Given the description of an element on the screen output the (x, y) to click on. 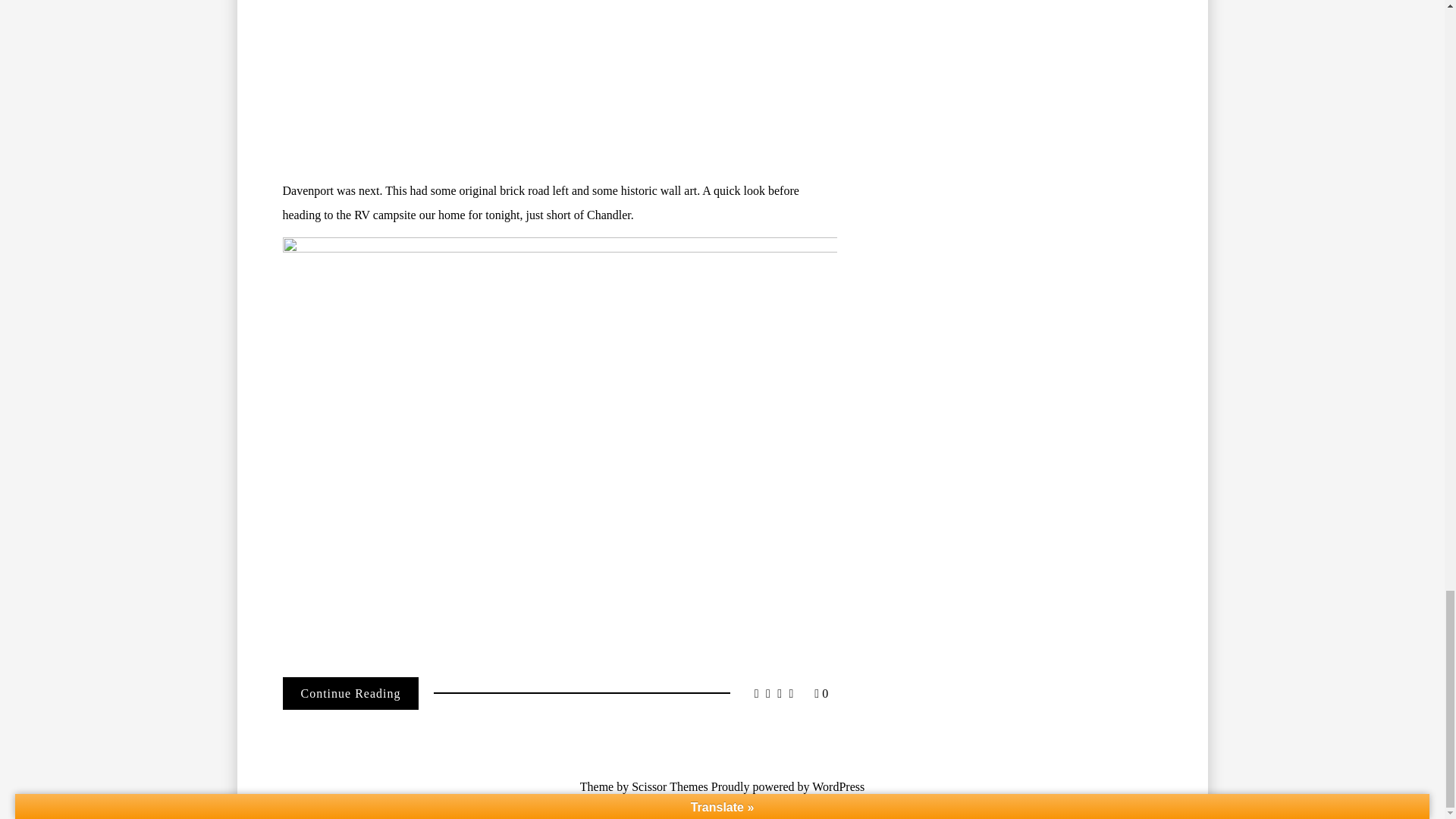
Scissor Themes (669, 786)
Tuesday 25th June (350, 693)
0 (820, 693)
WordPress (838, 786)
Continue Reading (350, 693)
